Given the description of an element on the screen output the (x, y) to click on. 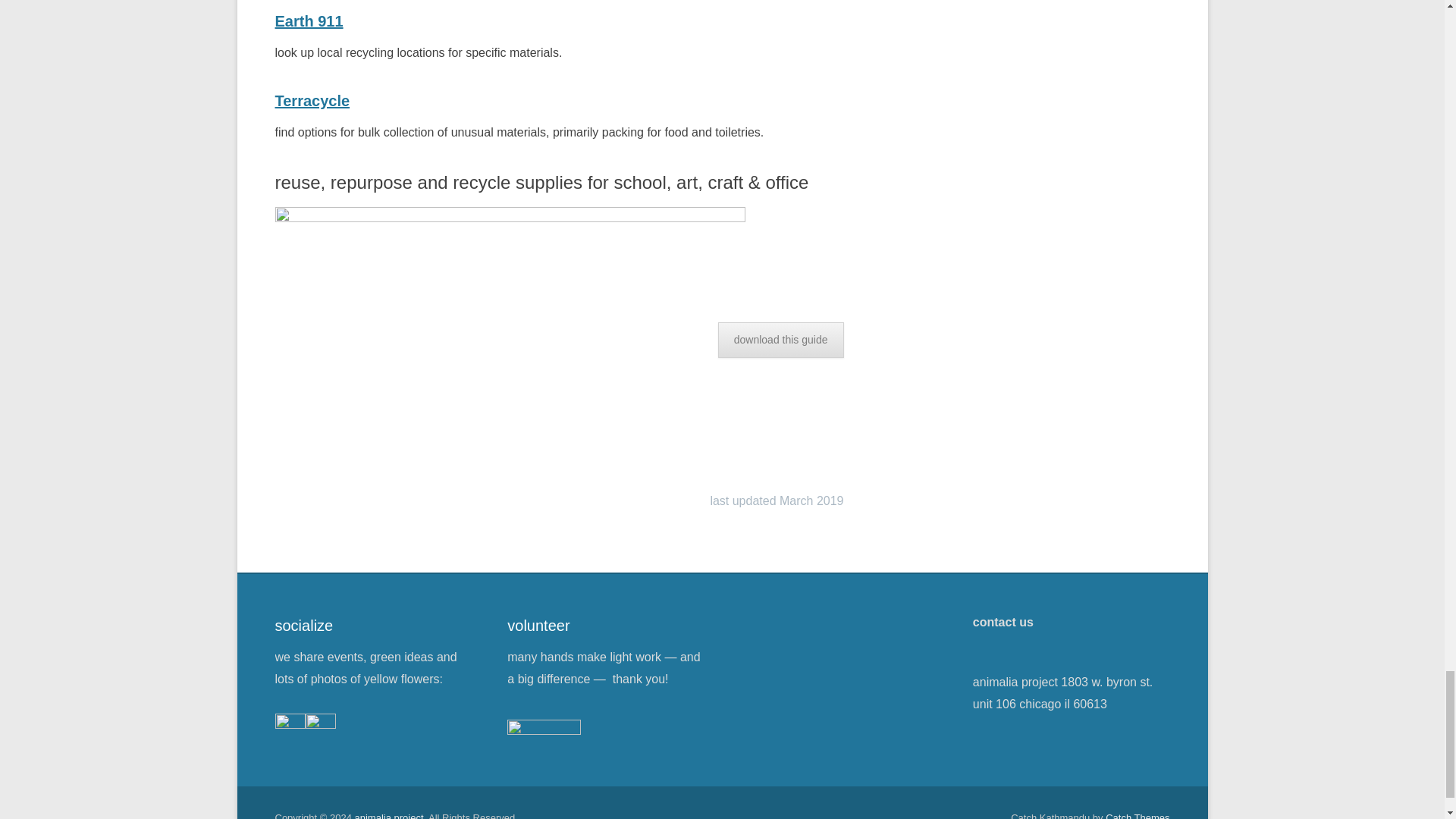
Earth 911 (308, 21)
Terracycle (312, 100)
download this guide (780, 339)
